Given the description of an element on the screen output the (x, y) to click on. 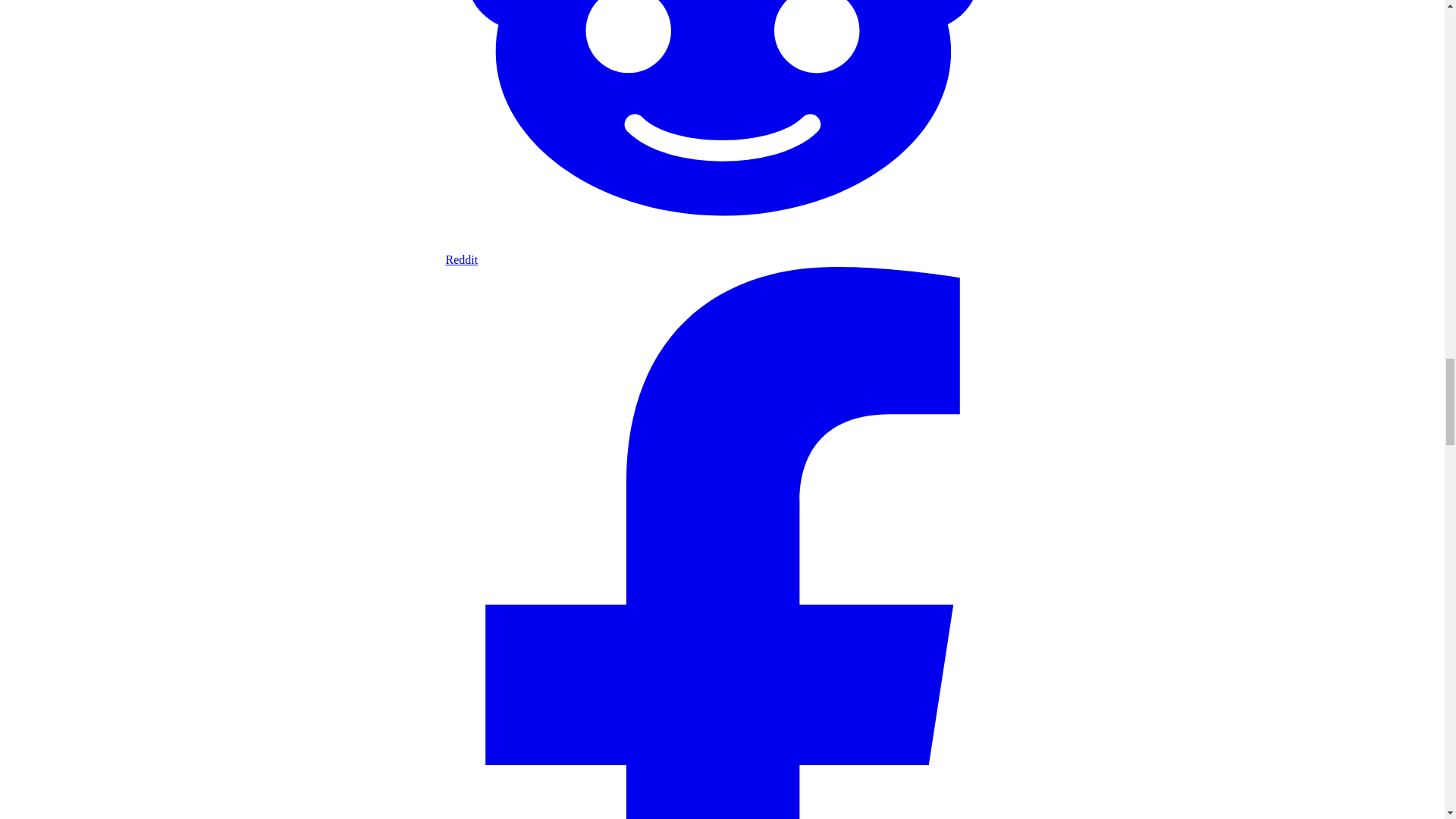
Reddit (721, 252)
